Given the description of an element on the screen output the (x, y) to click on. 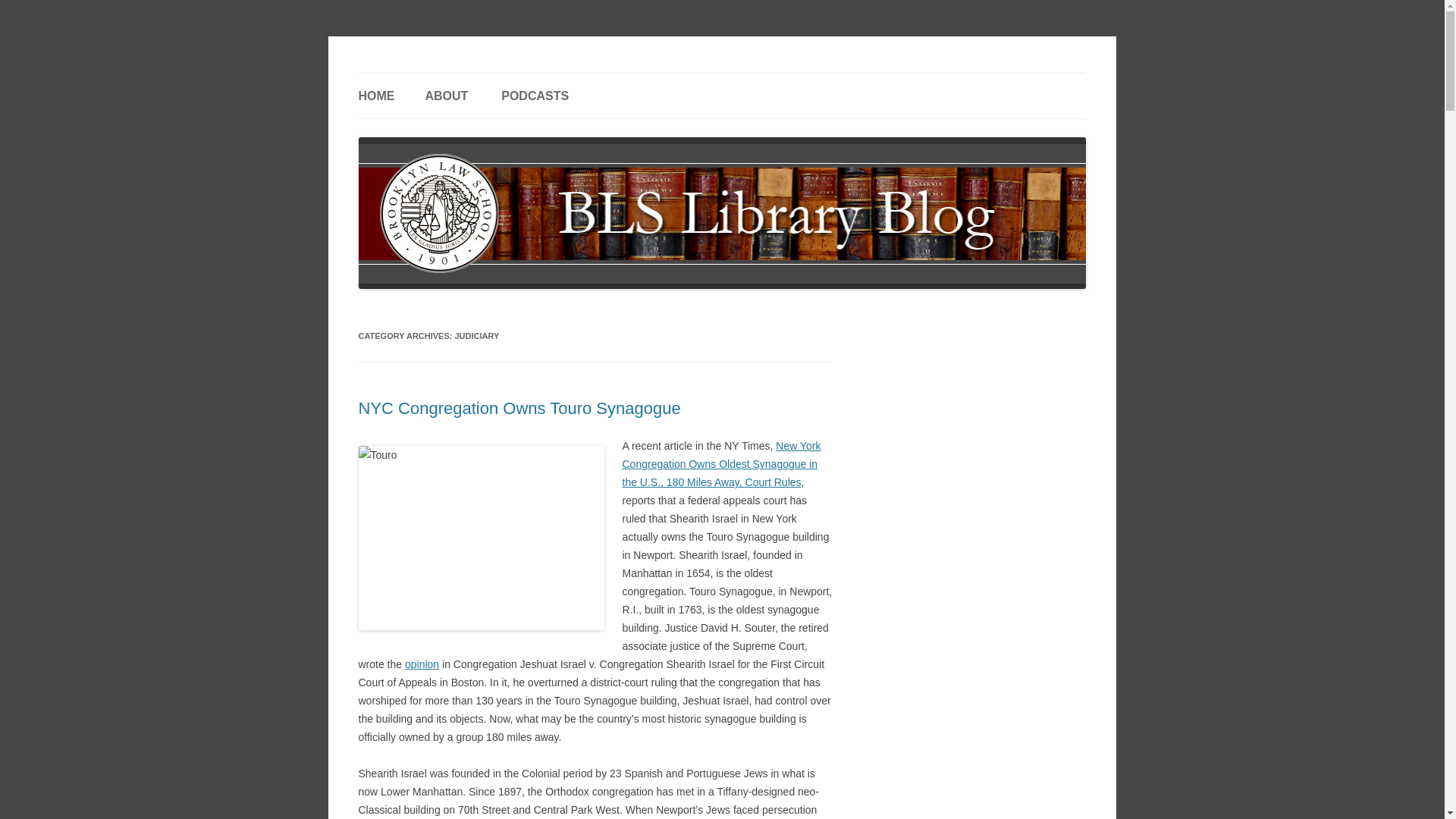
NYC Congregation Owns Touro Synagogue (518, 407)
Skip to content (757, 77)
BLS Library Blog (438, 72)
BLS Library Blog (438, 72)
Skip to content (757, 77)
ABOUT (446, 95)
PODCASTS (534, 95)
opinion (421, 664)
